Given the description of an element on the screen output the (x, y) to click on. 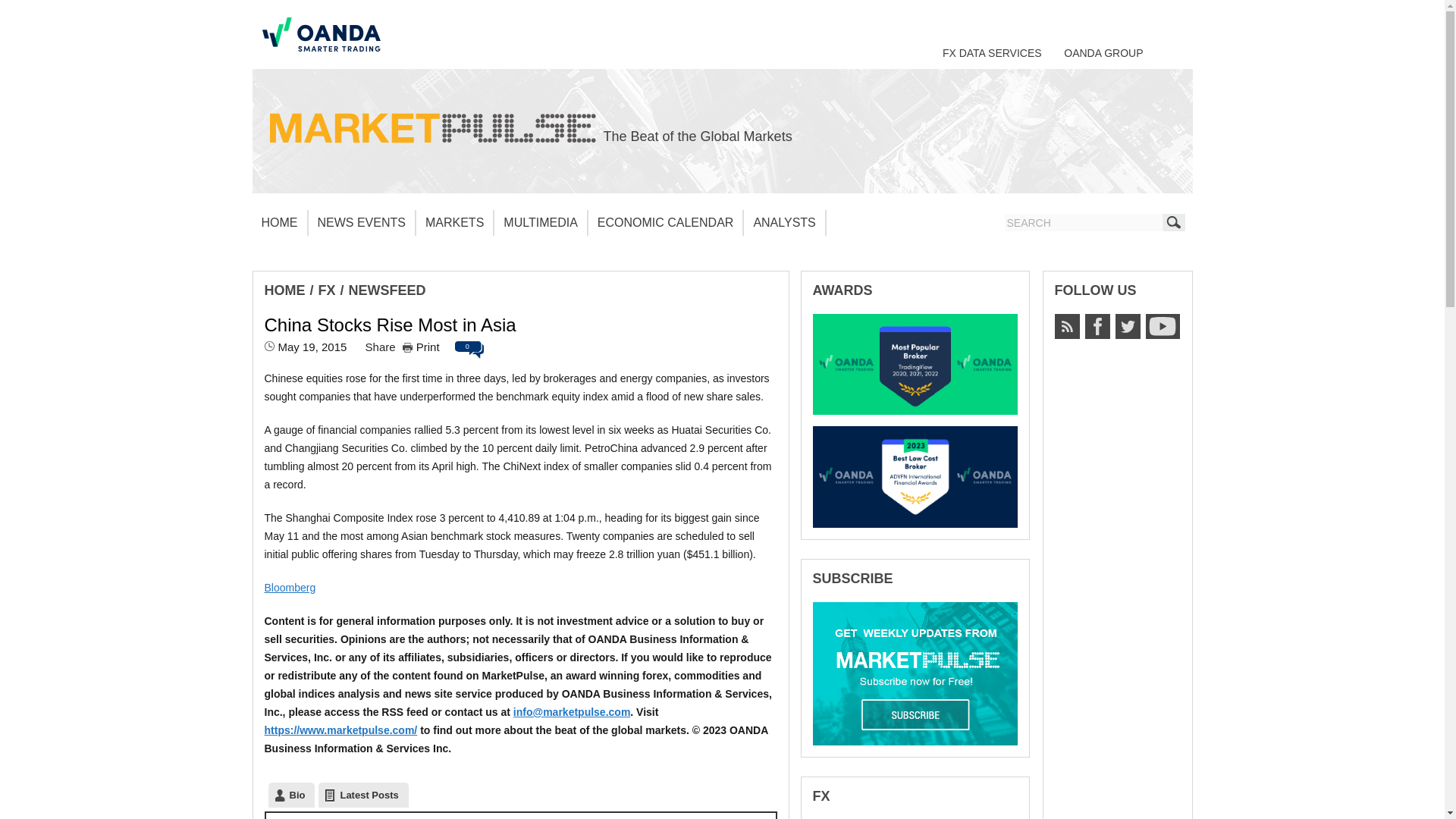
Find (1173, 221)
HOME (283, 290)
ECONOMIC CALENDAR (666, 222)
HOME (279, 222)
ANALYSTS (784, 222)
Latest Posts (362, 794)
Bio (291, 794)
OANDA GROUP (1103, 52)
Youtube (1161, 326)
FX DATA SERVICES (992, 52)
